Given the description of an element on the screen output the (x, y) to click on. 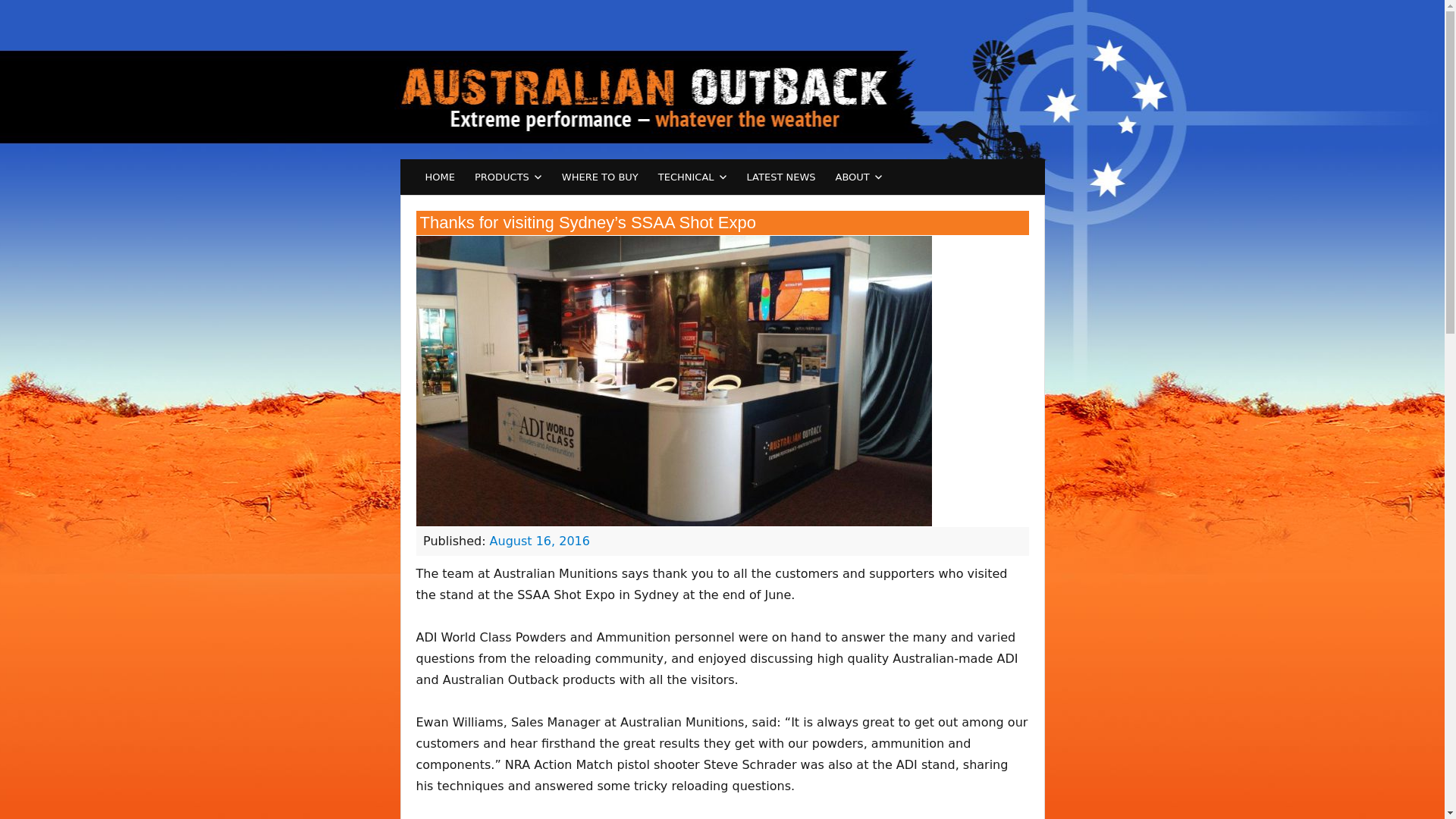
HOME (439, 176)
Australian Outback (625, 79)
TECHNICAL (691, 176)
WHERE TO BUY (599, 176)
ABOUT (858, 176)
August 16, 2016 (539, 540)
LATEST NEWS (780, 176)
PRODUCTS (507, 176)
